Given the description of an element on the screen output the (x, y) to click on. 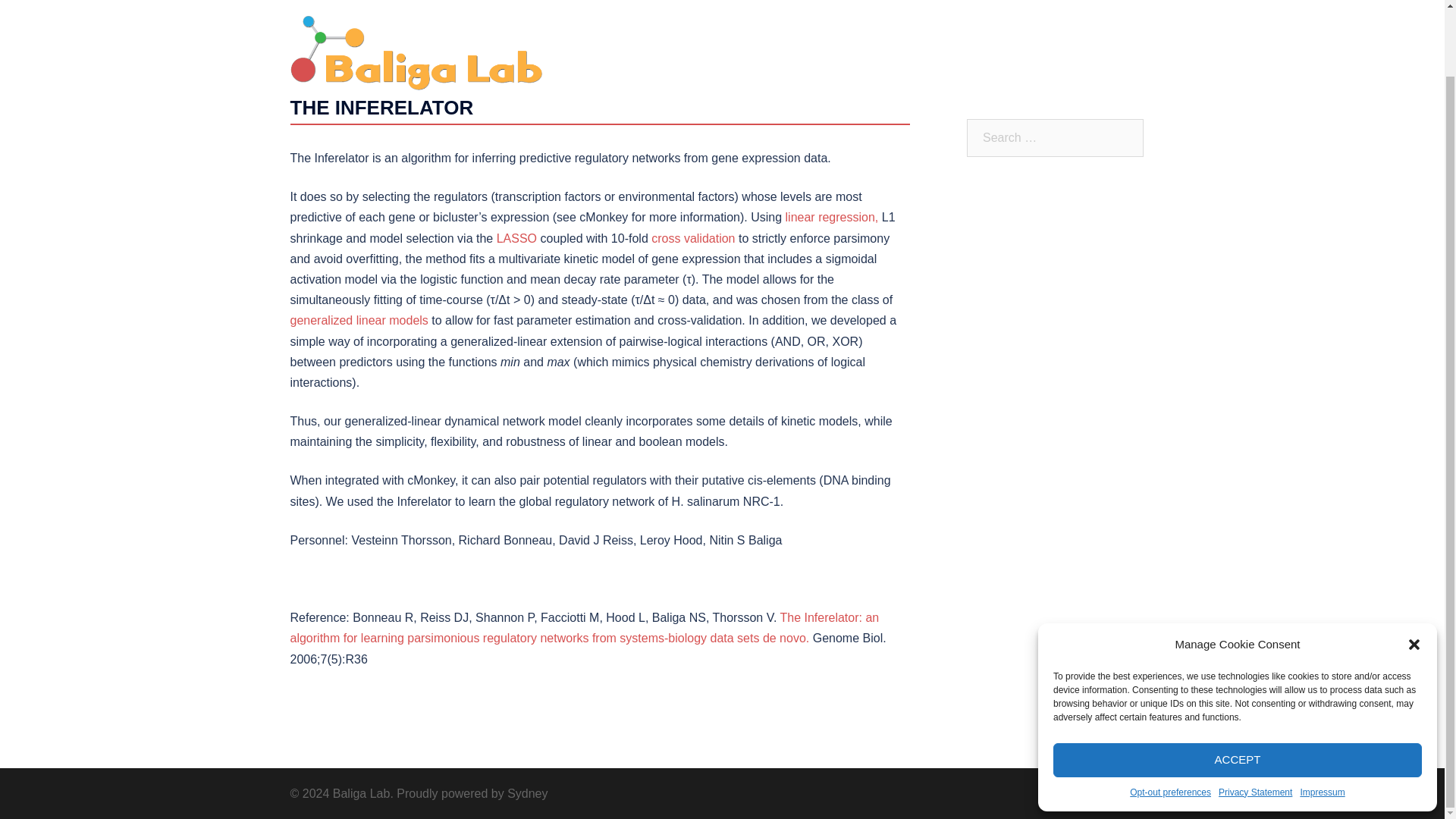
ACCEPT (1237, 687)
linear regression, (832, 216)
LASSO (516, 237)
Impressum (1321, 719)
cross validation (692, 237)
Opt-out preferences (1170, 719)
Privacy Statement (1255, 719)
Sydney (526, 793)
generalized linear models (358, 319)
